Given the description of an element on the screen output the (x, y) to click on. 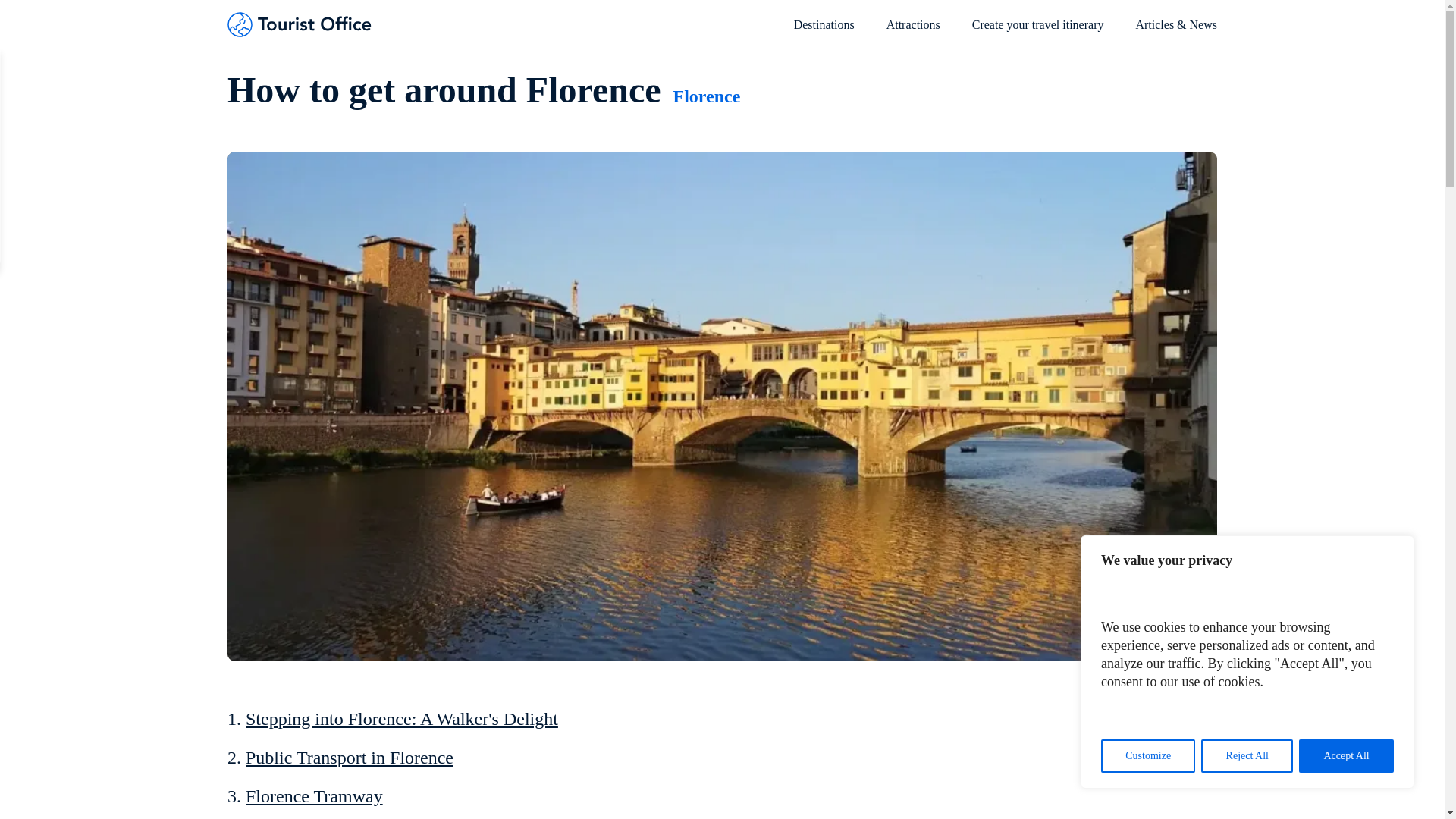
Destinations (823, 32)
Reject All (1246, 756)
Accept All (1345, 756)
Customize (1147, 756)
